Given the description of an element on the screen output the (x, y) to click on. 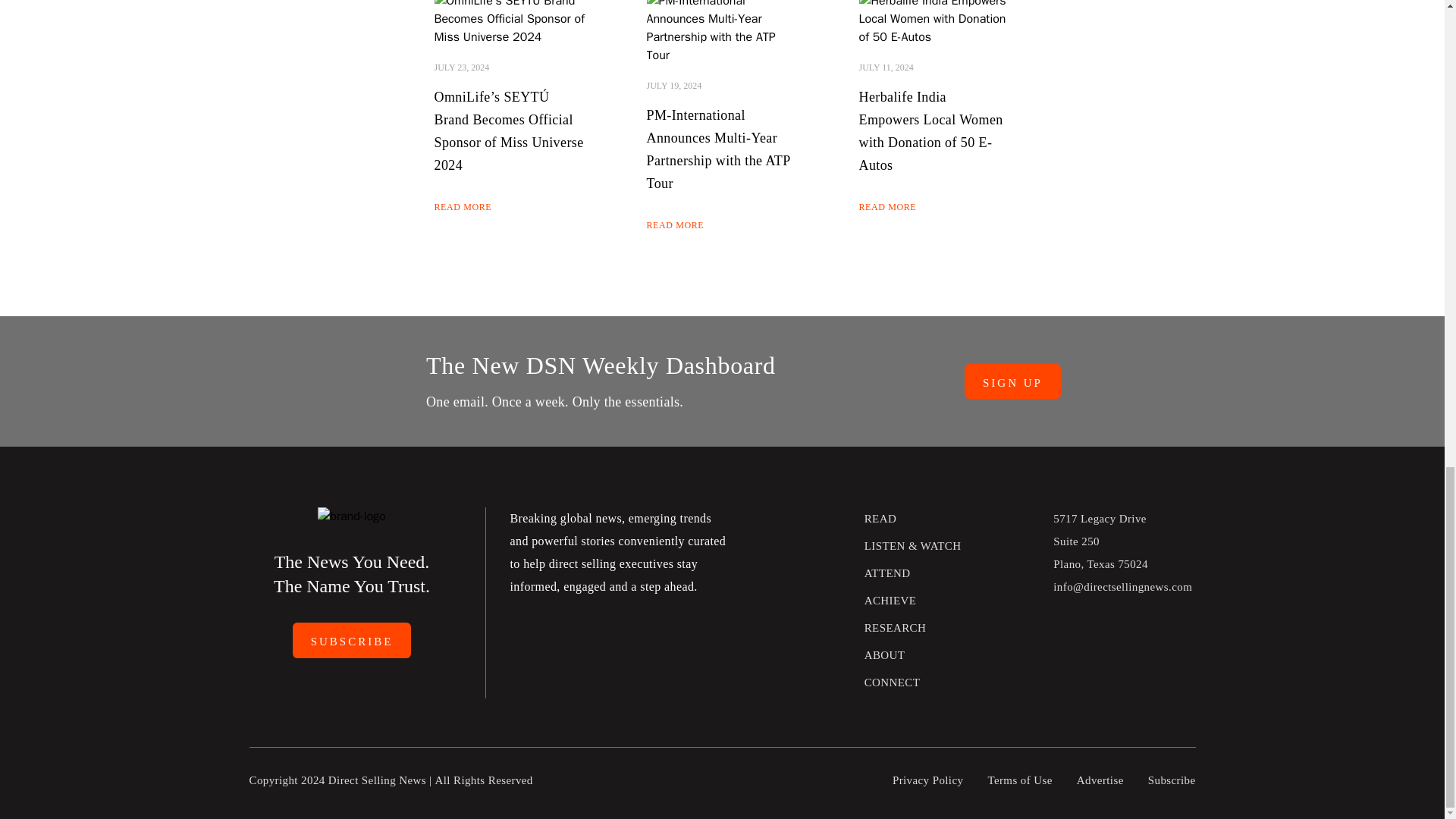
Sign Up (1012, 381)
